Given the description of an element on the screen output the (x, y) to click on. 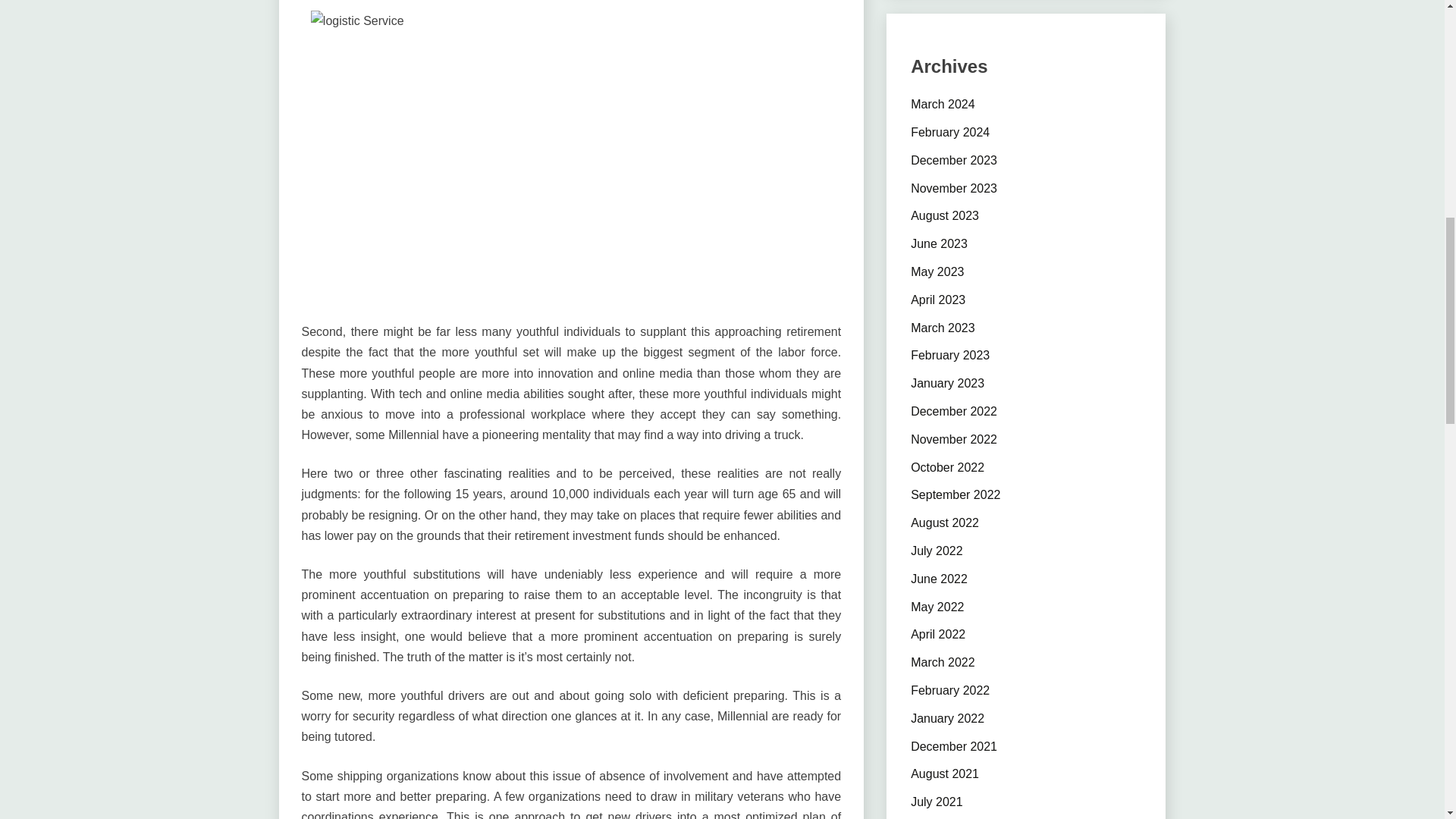
December 2023 (954, 160)
November 2023 (954, 187)
February 2024 (950, 132)
March 2024 (943, 103)
